Given the description of an element on the screen output the (x, y) to click on. 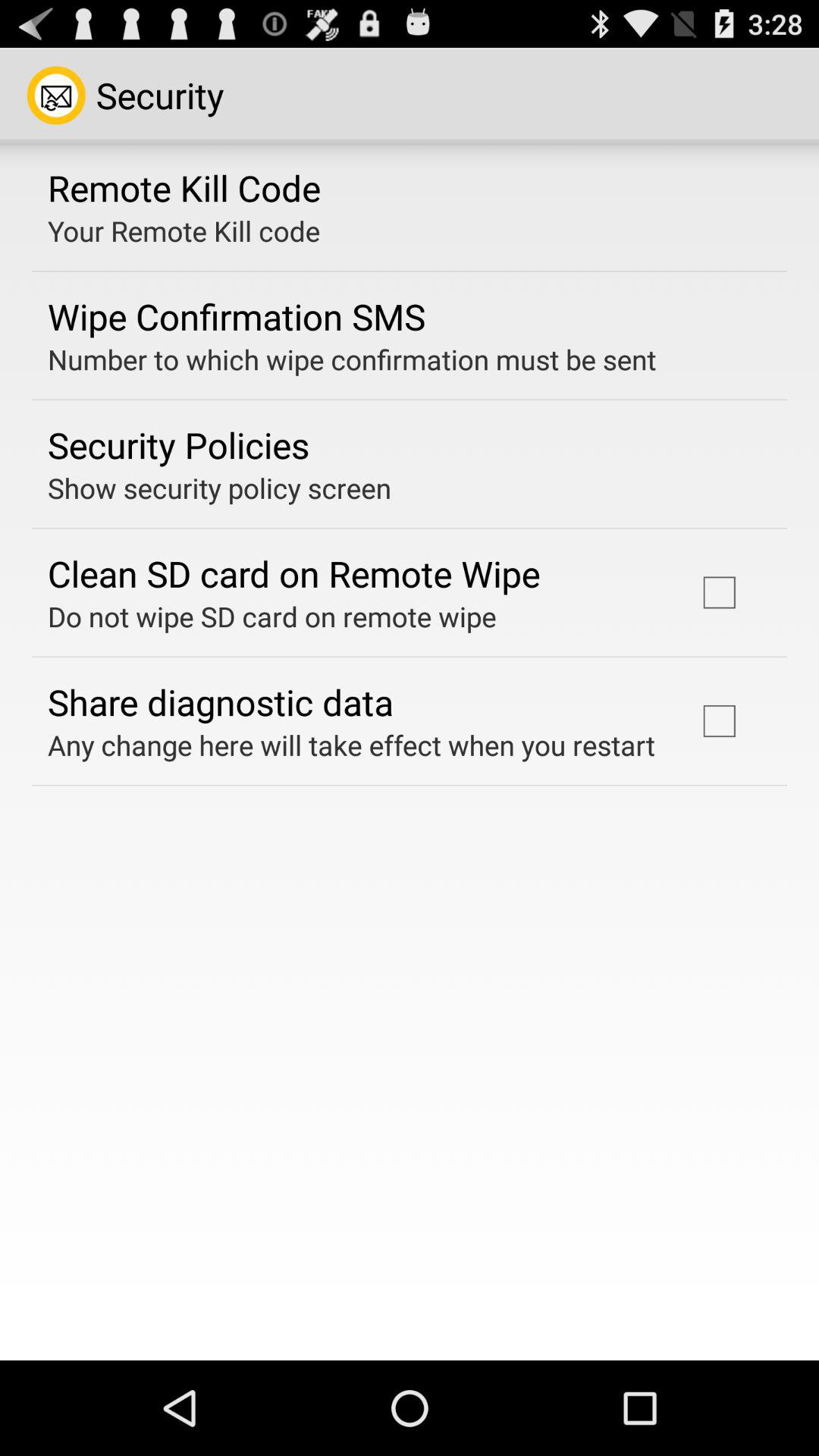
flip until the do not wipe item (271, 616)
